Given the description of an element on the screen output the (x, y) to click on. 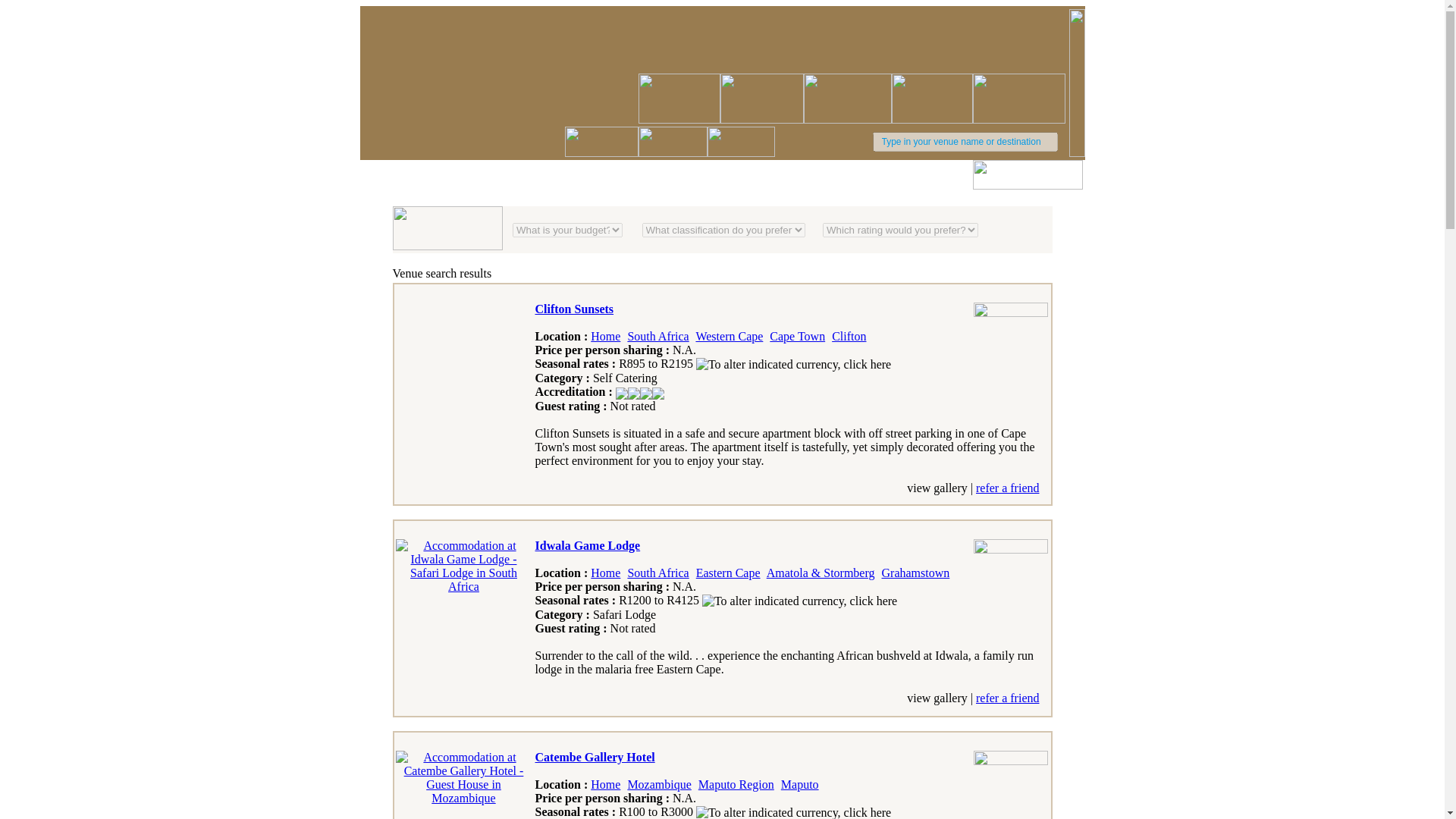
Cape Town (797, 336)
South Africa (657, 336)
Maputo accommodation (799, 784)
refer a friend (1007, 697)
view gallery (937, 487)
Home (605, 784)
Clifton (848, 336)
Western Cape (728, 336)
Maputo Region accommodation (736, 784)
Eastern Cape accommodation (727, 572)
Home (605, 336)
view gallery (937, 697)
Cape Town accommodation (797, 336)
Mozambique (658, 784)
South Africa accommodation (657, 336)
